Given the description of an element on the screen output the (x, y) to click on. 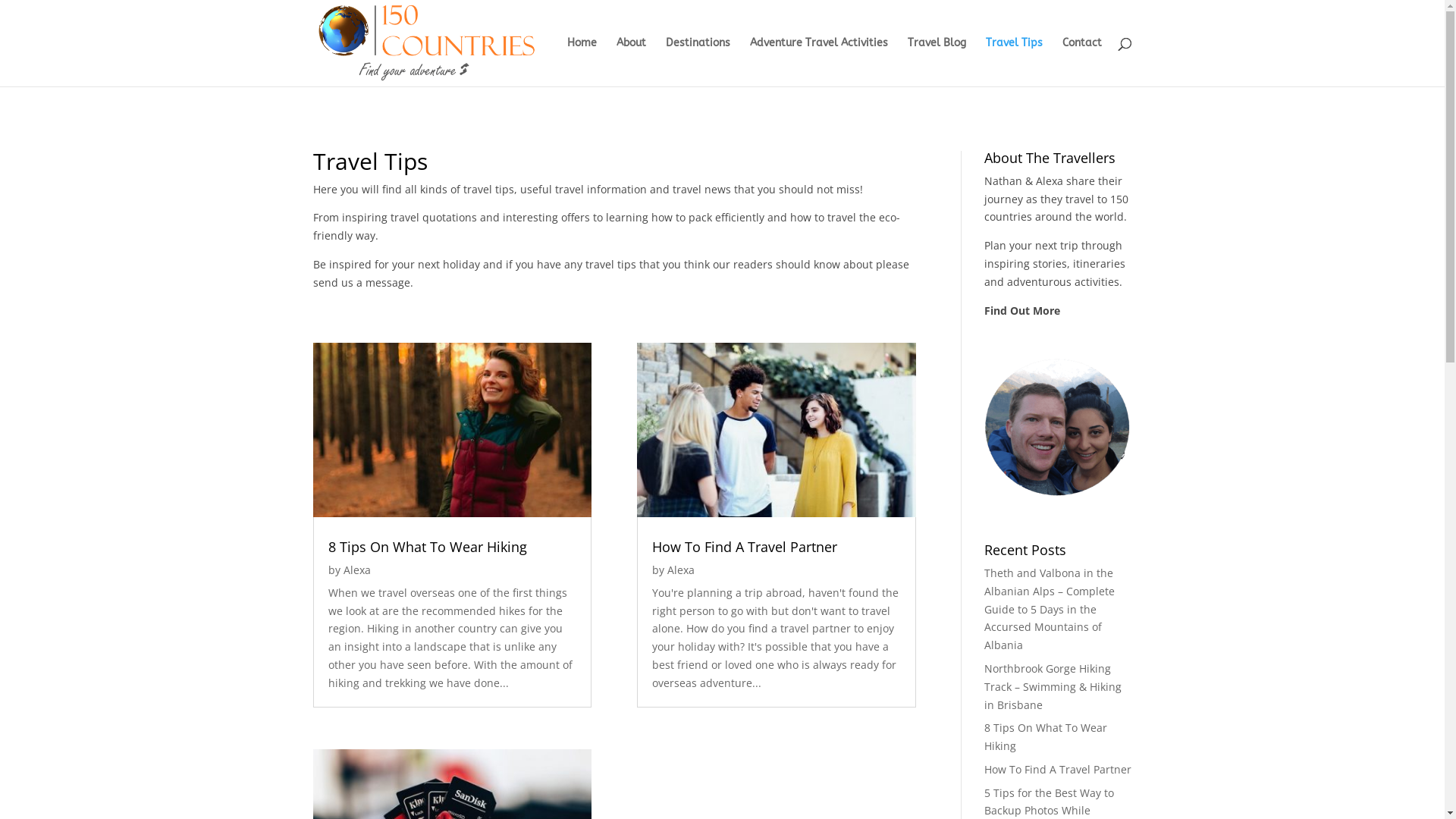
8 Tips On What To Wear Hiking Element type: text (426, 546)
8 Tips On What To Wear Hiking Element type: text (1045, 736)
Alexa Element type: text (680, 569)
Travel Blog Element type: text (935, 61)
Contact Element type: text (1081, 61)
Travel Tips Element type: text (1013, 61)
Destinations Element type: text (697, 61)
Find Out More Element type: text (1022, 310)
About Element type: text (630, 61)
How To Find A Travel Partner Element type: text (744, 546)
Alexa Element type: text (356, 569)
How To Find A Travel Partner Element type: text (1057, 769)
Adventure Travel Activities Element type: text (818, 61)
Home Element type: text (581, 61)
